Given the description of an element on the screen output the (x, y) to click on. 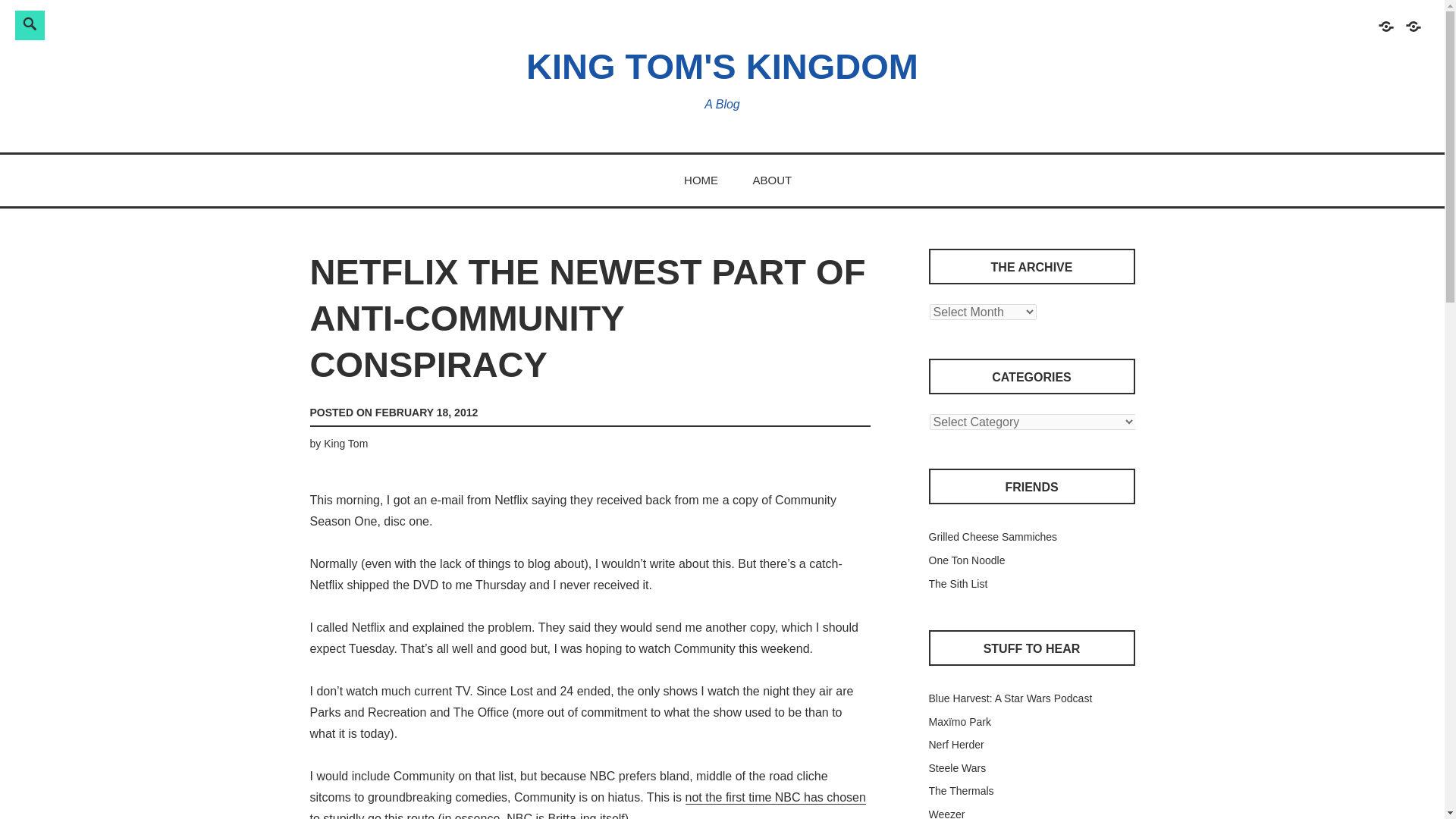
Search (242, 22)
Search (242, 22)
King Tom (345, 443)
The Sith List (957, 583)
Grilled Cheese Sammiches (992, 536)
FEBRUARY 18, 2012 (426, 412)
KING TOM'S KINGDOM (721, 65)
One Ton Noodle (966, 560)
not the first time NBC has chosen to stupidly go this route (586, 805)
Nerf Herder (956, 744)
Search (242, 22)
Blue Harvest: A Star Wars Podcast (1010, 698)
ABOUT (772, 179)
Steele Wars (956, 767)
